Given the description of an element on the screen output the (x, y) to click on. 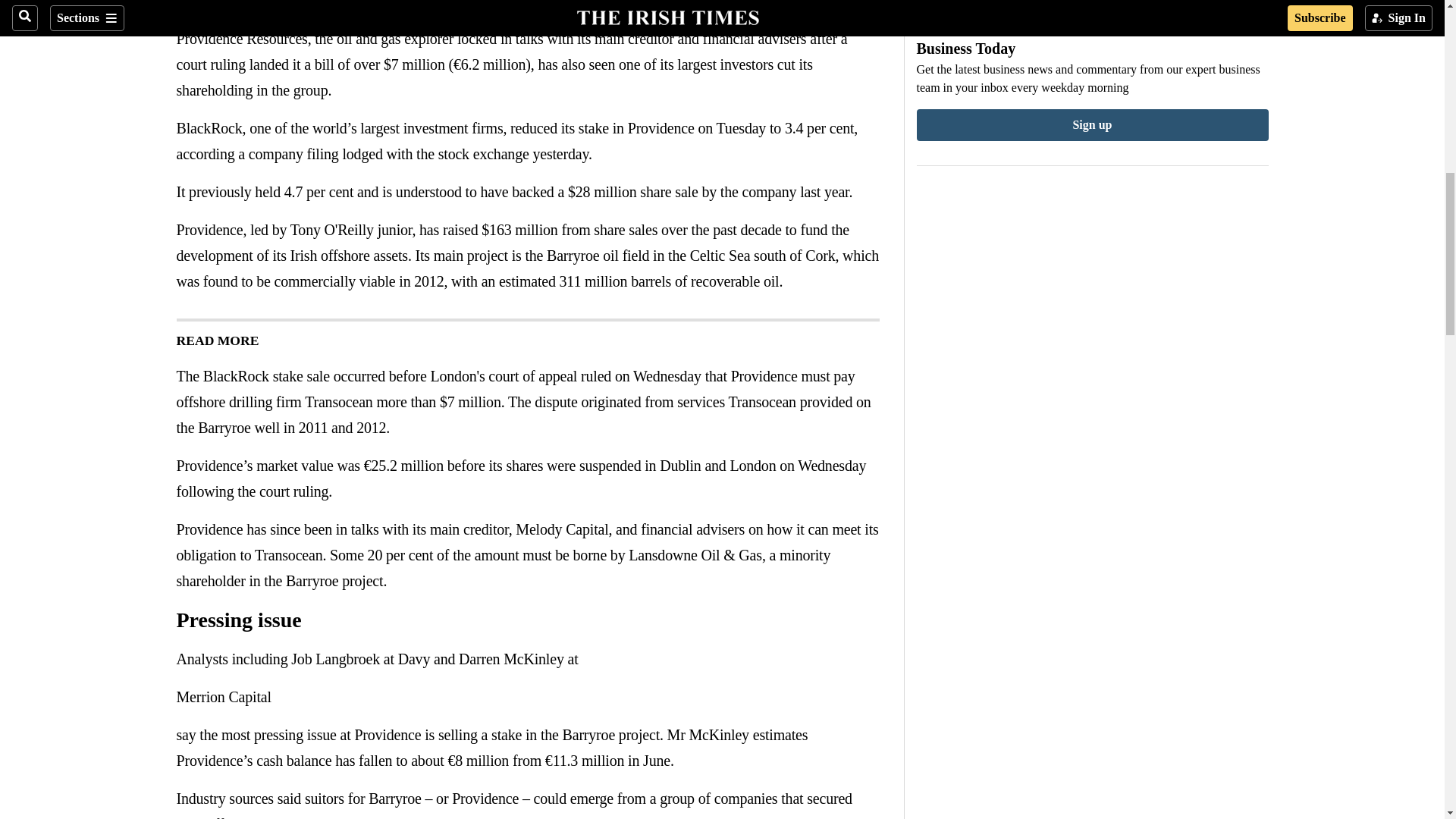
Facebook (184, 6)
WhatsApp (244, 6)
X (215, 6)
